Given the description of an element on the screen output the (x, y) to click on. 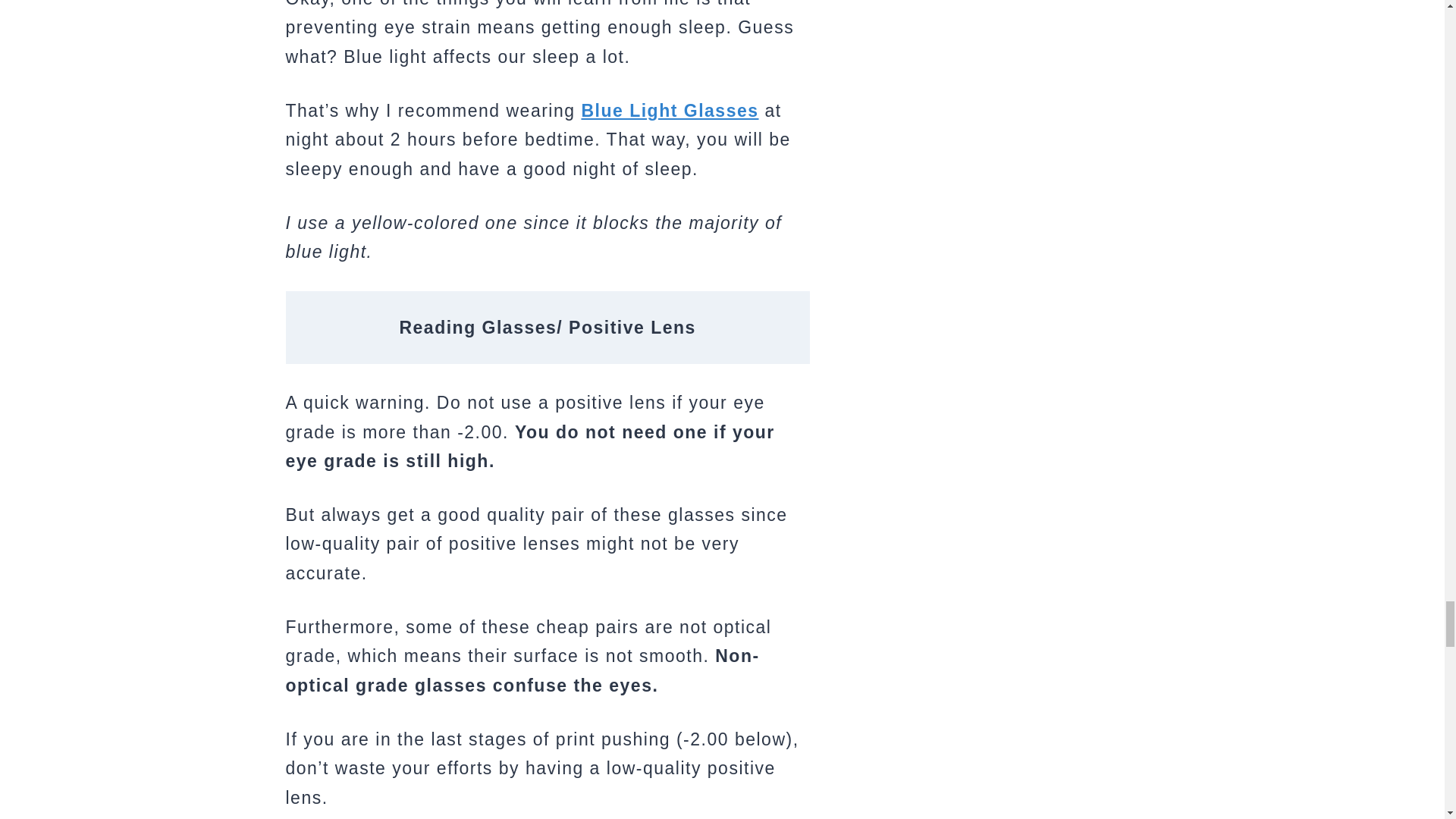
Blue Light Glasses (669, 110)
